Given the description of an element on the screen output the (x, y) to click on. 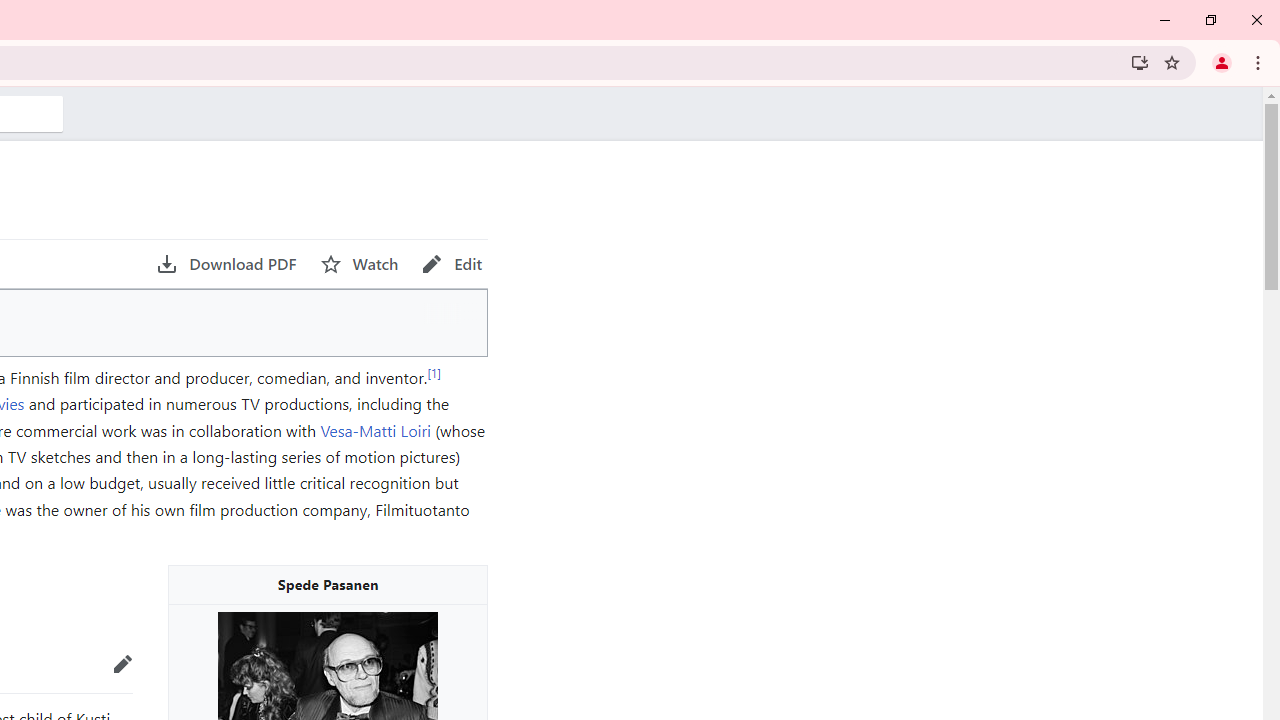
edit (123, 664)
Vesa-Matti Loiri (375, 429)
AutomationID: page-actions-edit (452, 263)
Edit (452, 264)
[1] (434, 372)
Install Wikipedia (1139, 62)
AutomationID: minerva-download (226, 263)
Watch (359, 264)
AutomationID: page-actions-watch (359, 263)
Download PDF (226, 264)
